Given the description of an element on the screen output the (x, y) to click on. 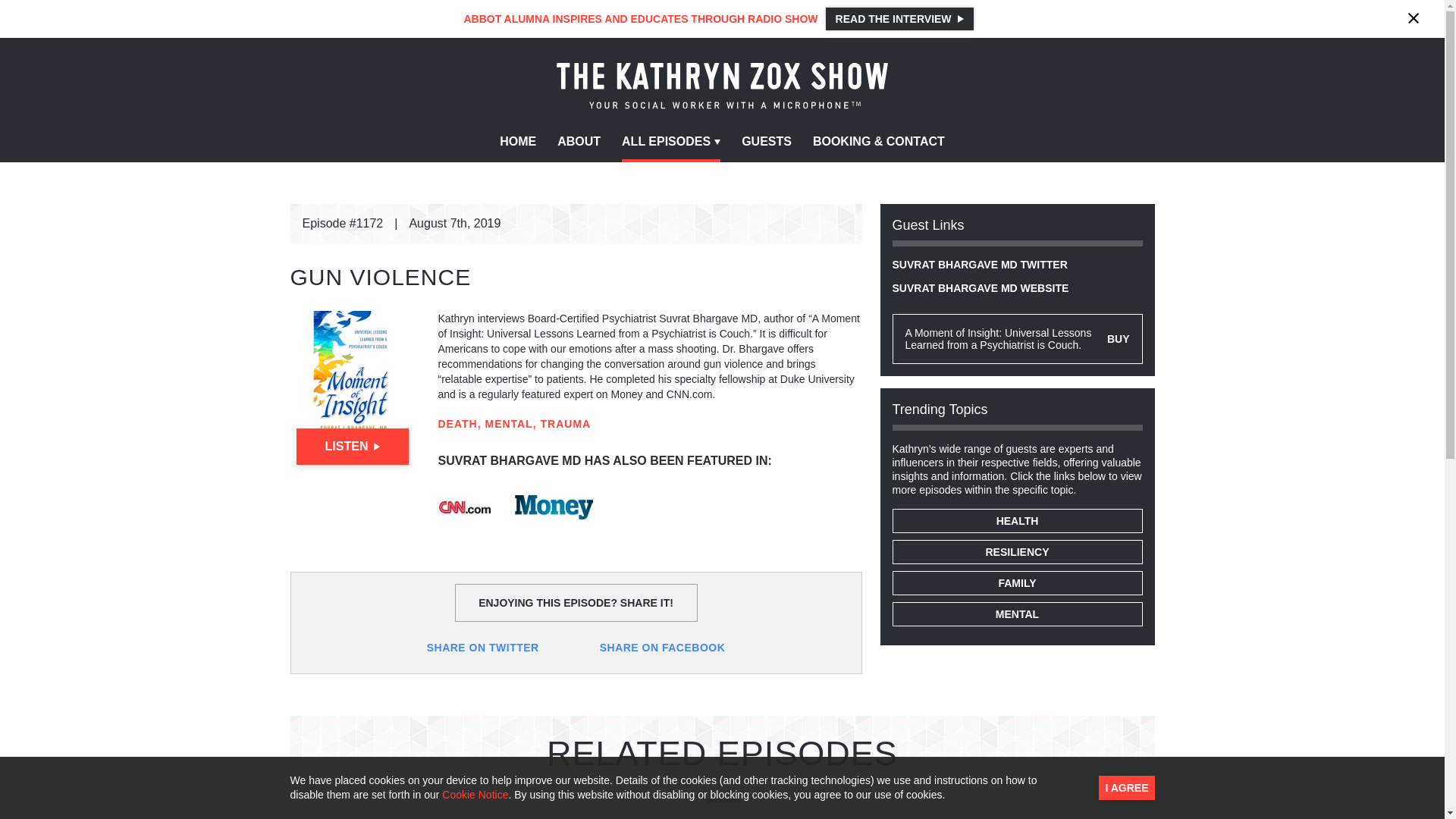
ALL EPISODES (670, 143)
HEALTH (1016, 520)
TRAUMA (565, 423)
SHARE ON TWITTER (482, 647)
MENTAL (1016, 613)
SHARE ON FACEBOOK (662, 647)
SUVRAT BHARGAVE MD WEBSITE (979, 287)
BUY (1117, 338)
SUVRAT BHARGAVE MD TWITTER (979, 264)
GUESTS (766, 143)
